Given the description of an element on the screen output the (x, y) to click on. 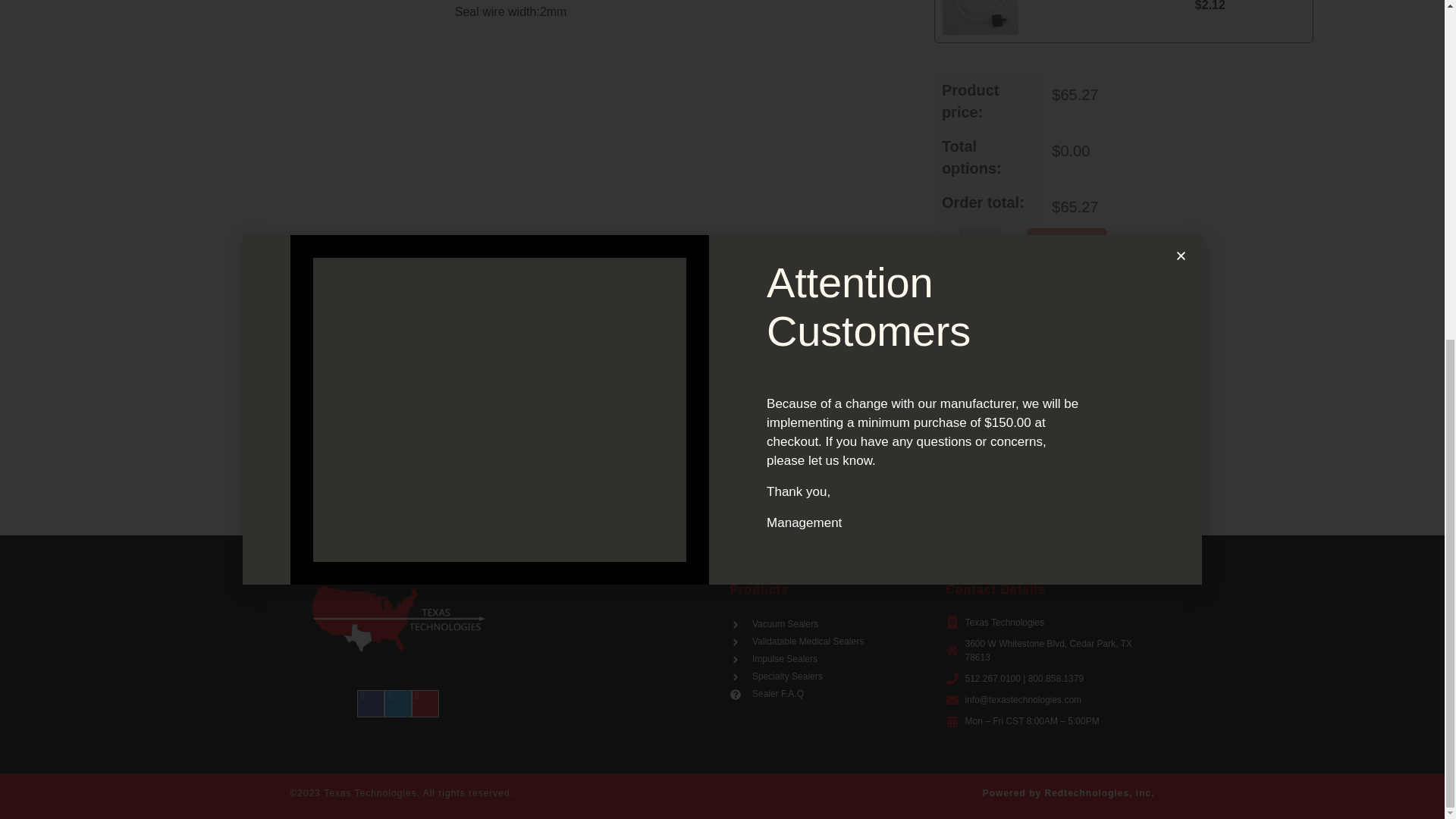
30 (361, 483)
Add Selected To Cart (1071, 482)
1684 (1122, 278)
